Given the description of an element on the screen output the (x, y) to click on. 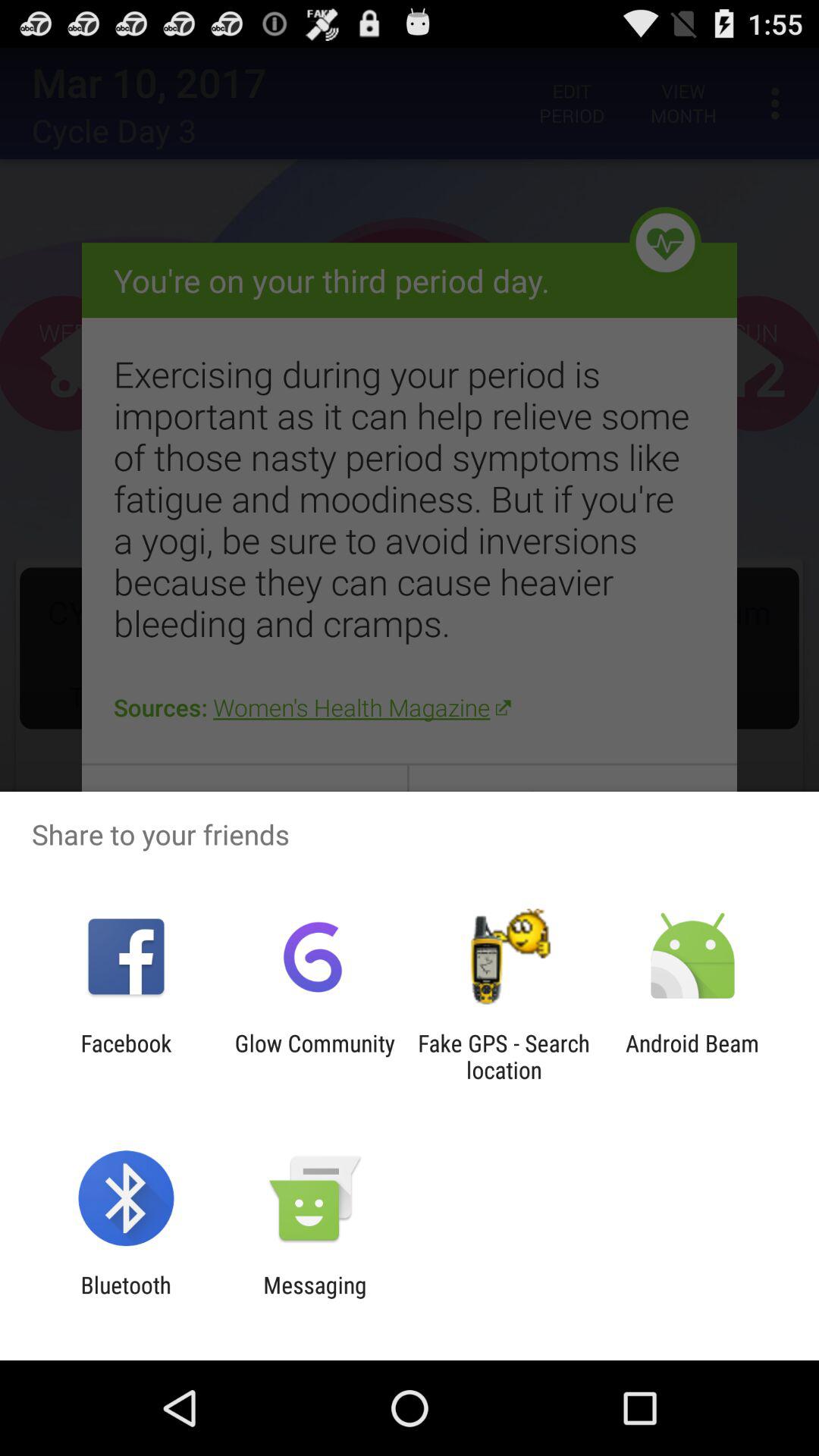
choose the app next to the bluetooth item (314, 1298)
